Given the description of an element on the screen output the (x, y) to click on. 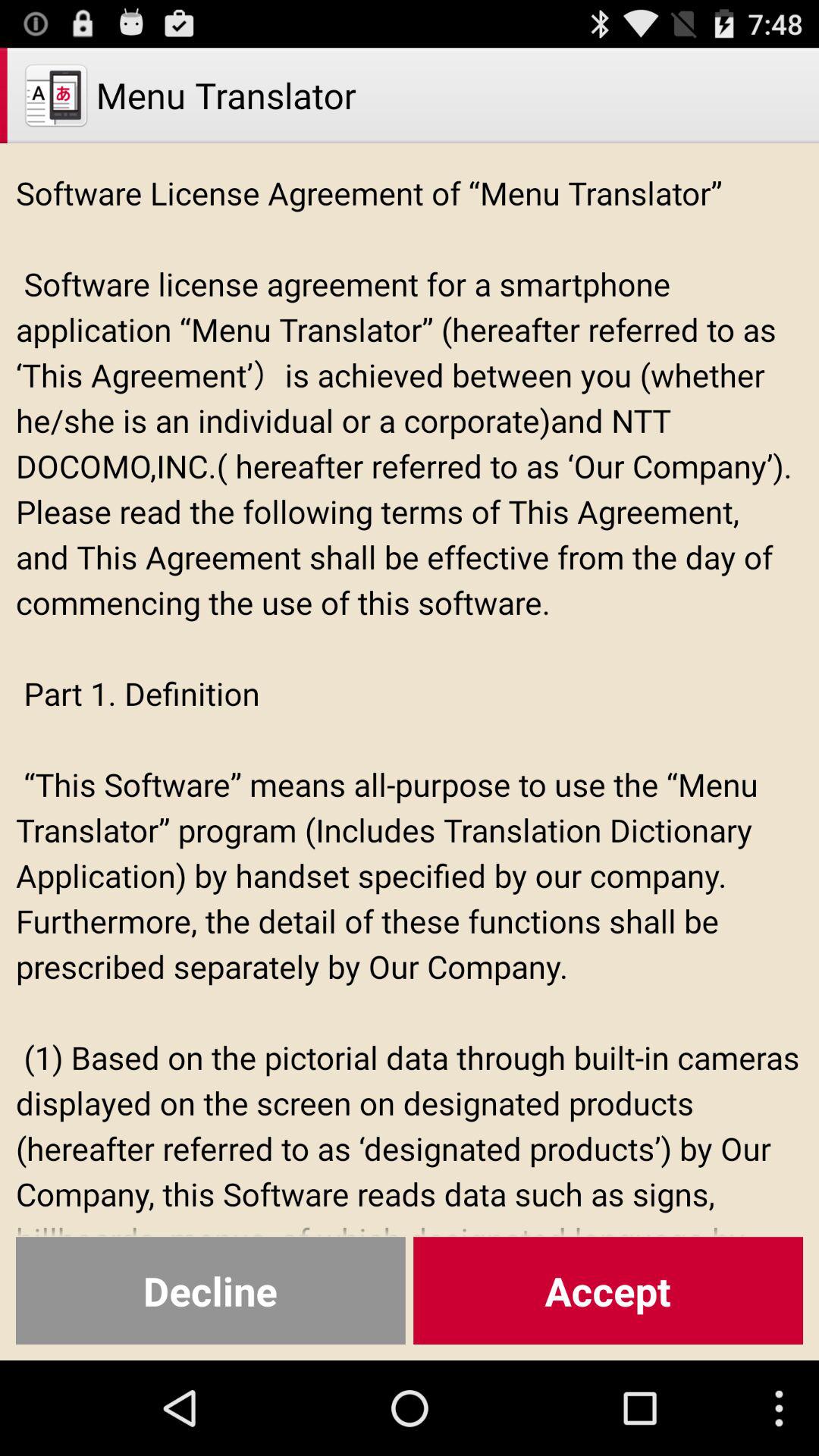
turn on button next to accept item (210, 1290)
